Given the description of an element on the screen output the (x, y) to click on. 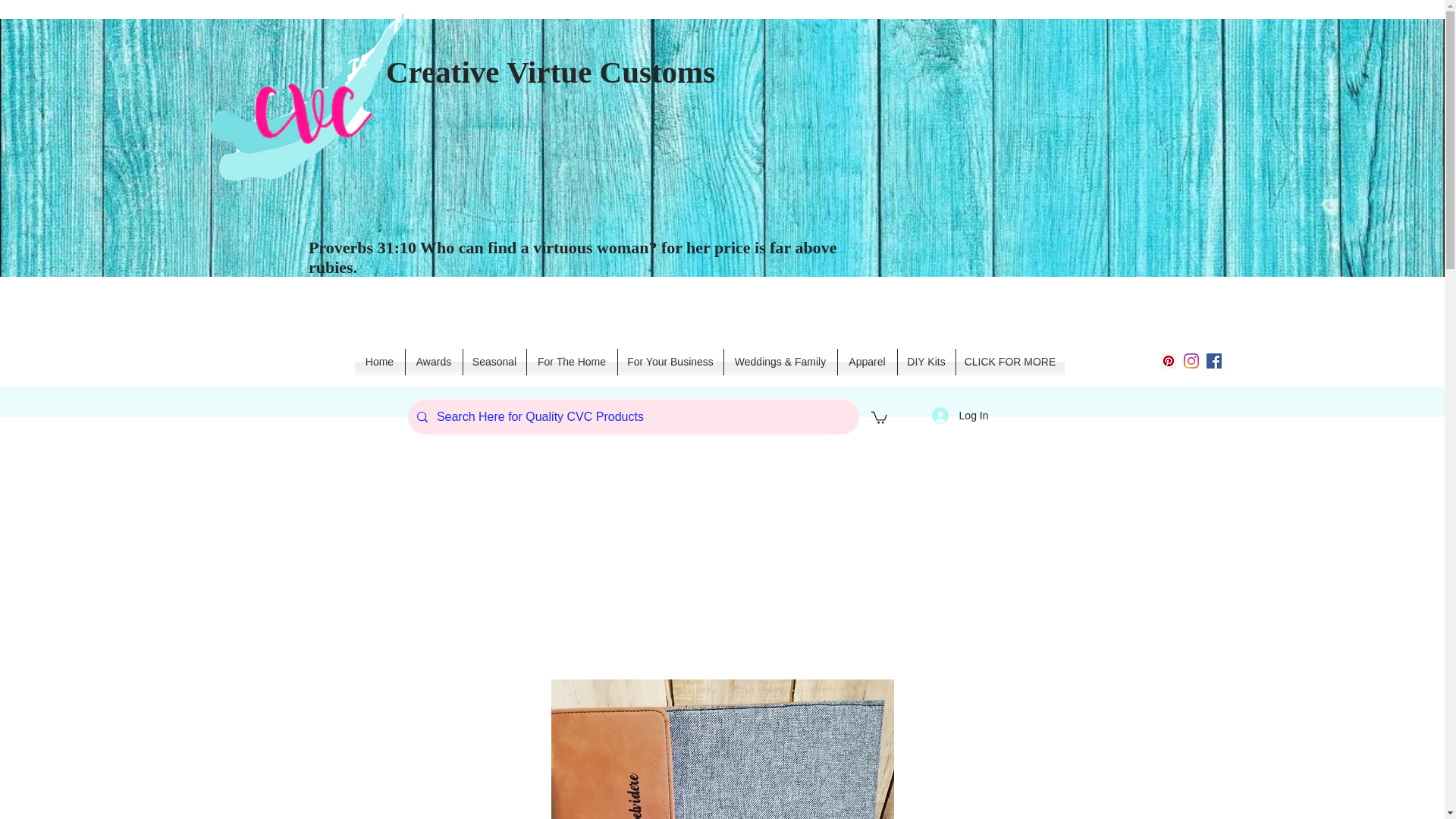
Seasonal (494, 361)
DIY Kits (926, 361)
Creative Virtue Customs (549, 71)
For Your Business (669, 361)
For The Home (570, 361)
Awards (432, 361)
Apparel (866, 361)
Home (379, 361)
Log In (959, 415)
